Given the description of an element on the screen output the (x, y) to click on. 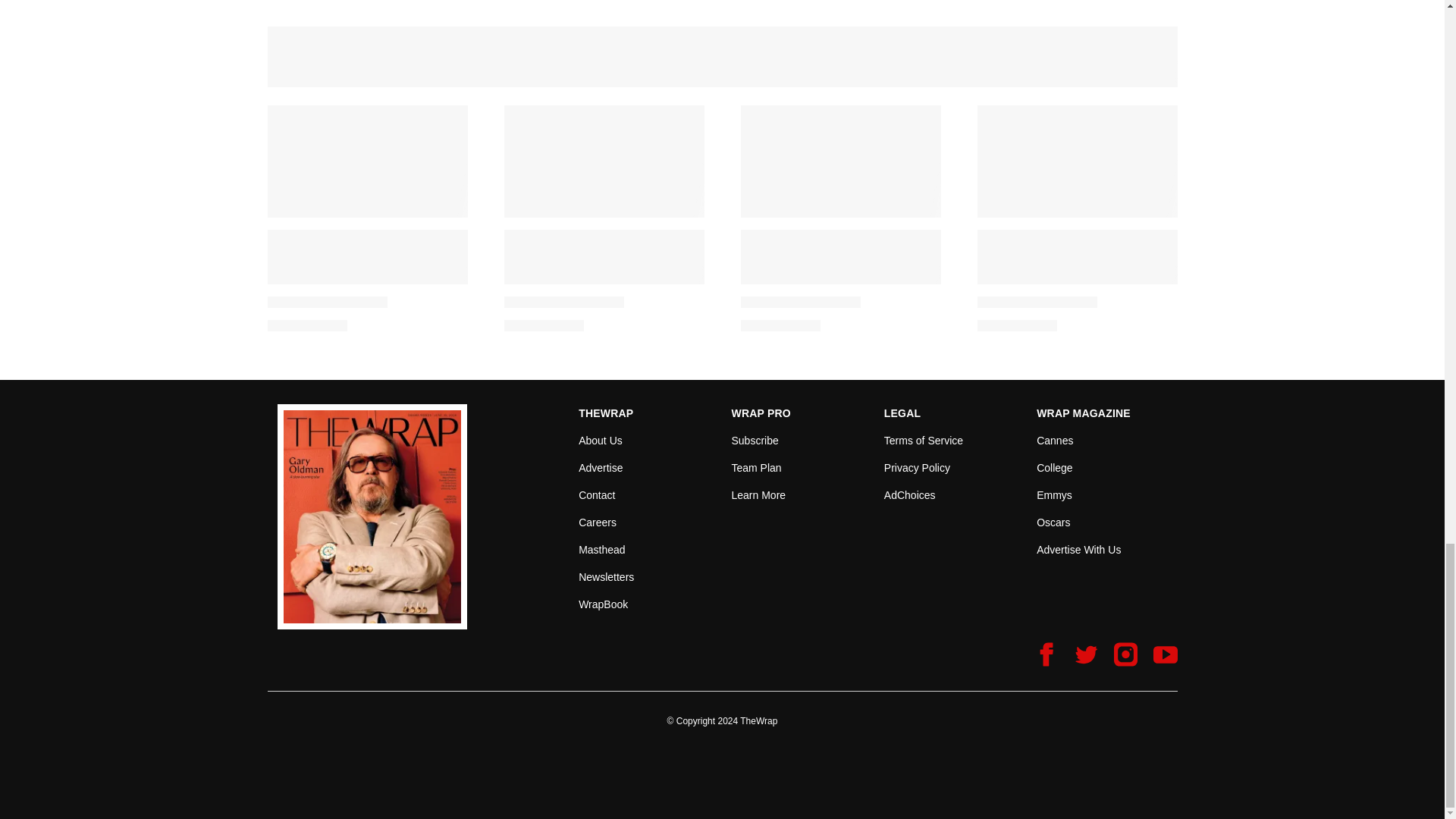
Learn more about becoming a member (758, 494)
